Given the description of an element on the screen output the (x, y) to click on. 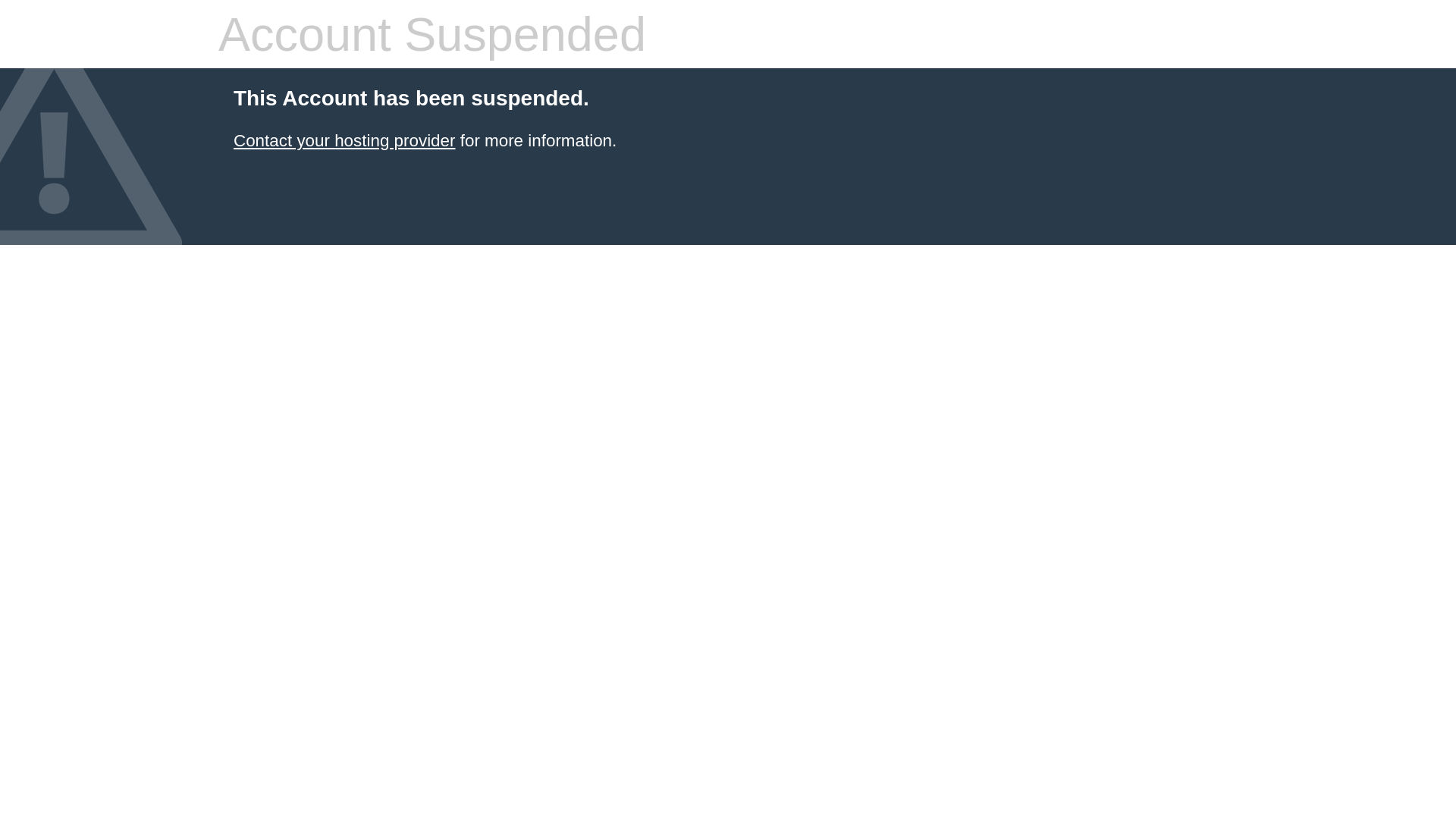
Contact your hosting provider Element type: text (344, 140)
